Given the description of an element on the screen output the (x, y) to click on. 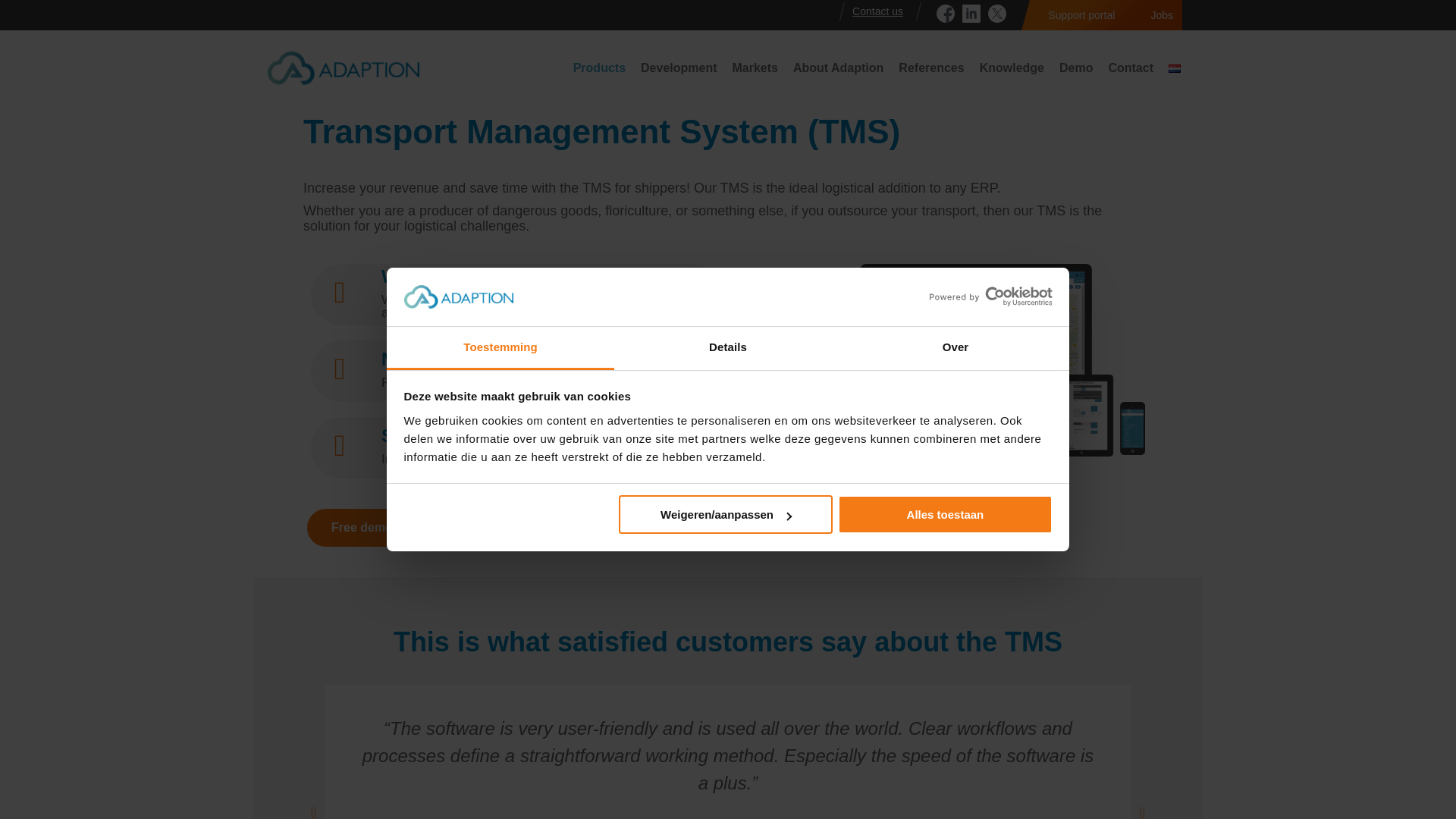
Toestemming (500, 348)
Details (727, 348)
Over (954, 348)
